Given the description of an element on the screen output the (x, y) to click on. 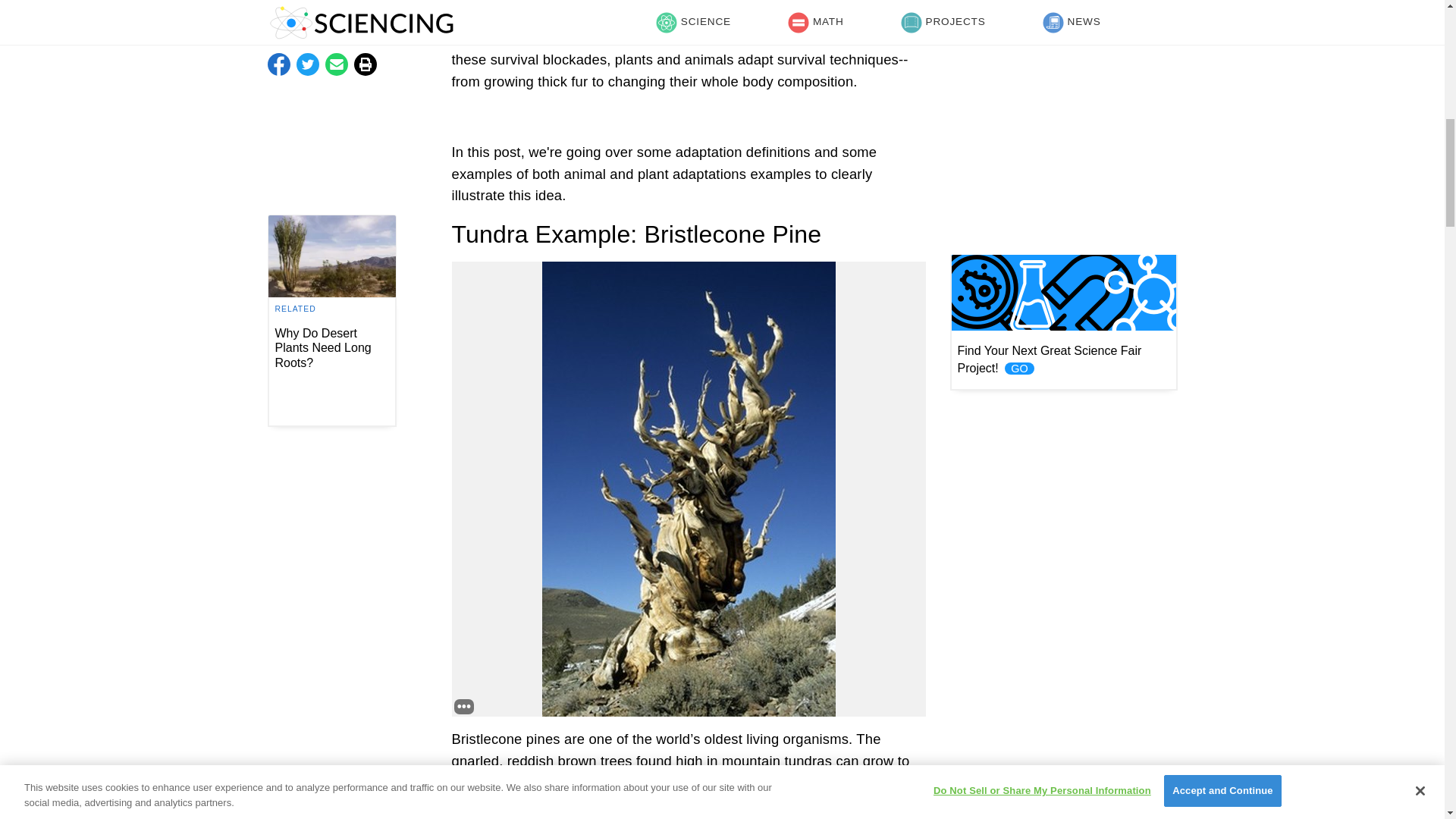
3rd party ad content (1062, 52)
